Given the description of an element on the screen output the (x, y) to click on. 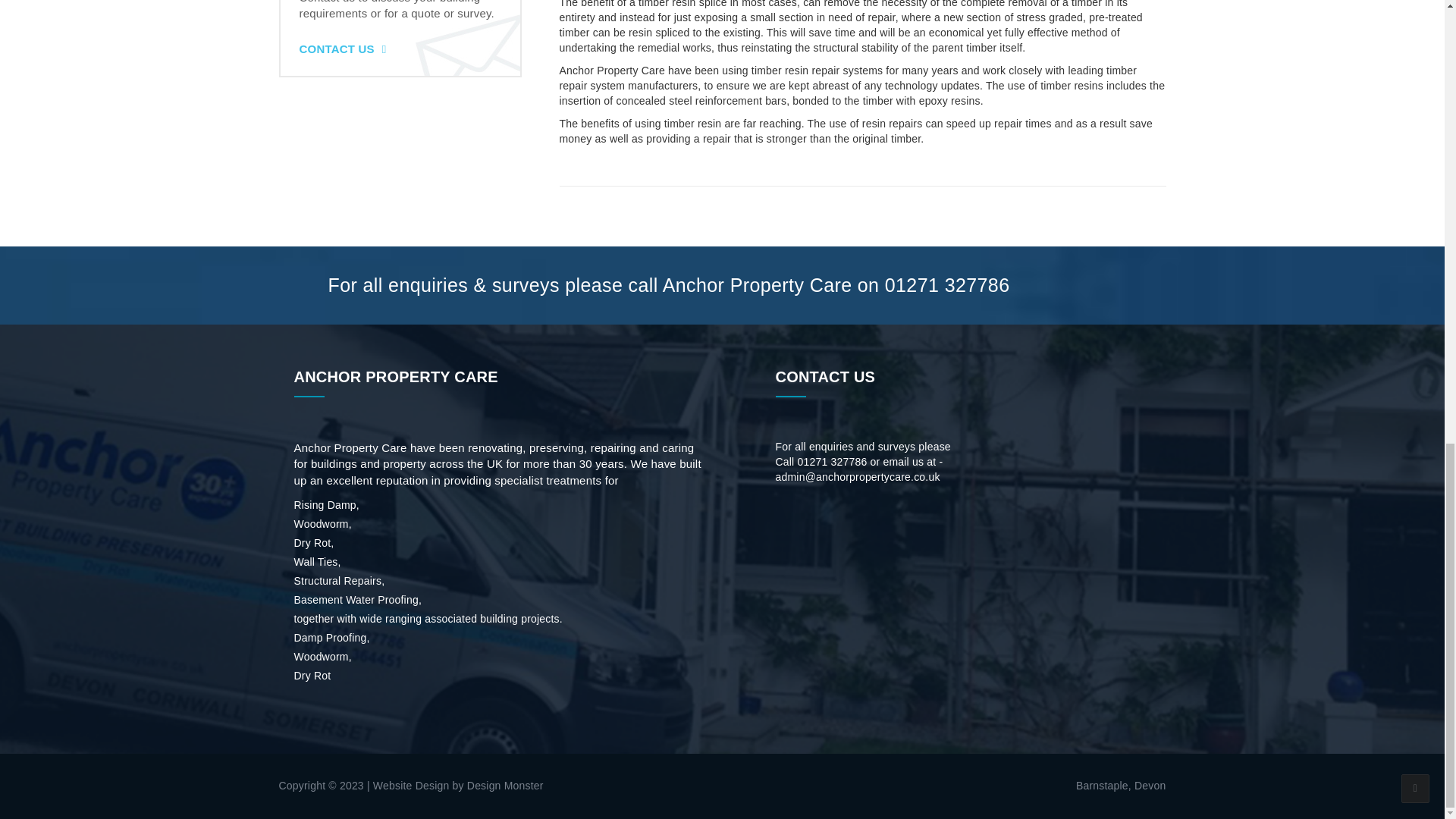
CONTACT US (341, 48)
